Given the description of an element on the screen output the (x, y) to click on. 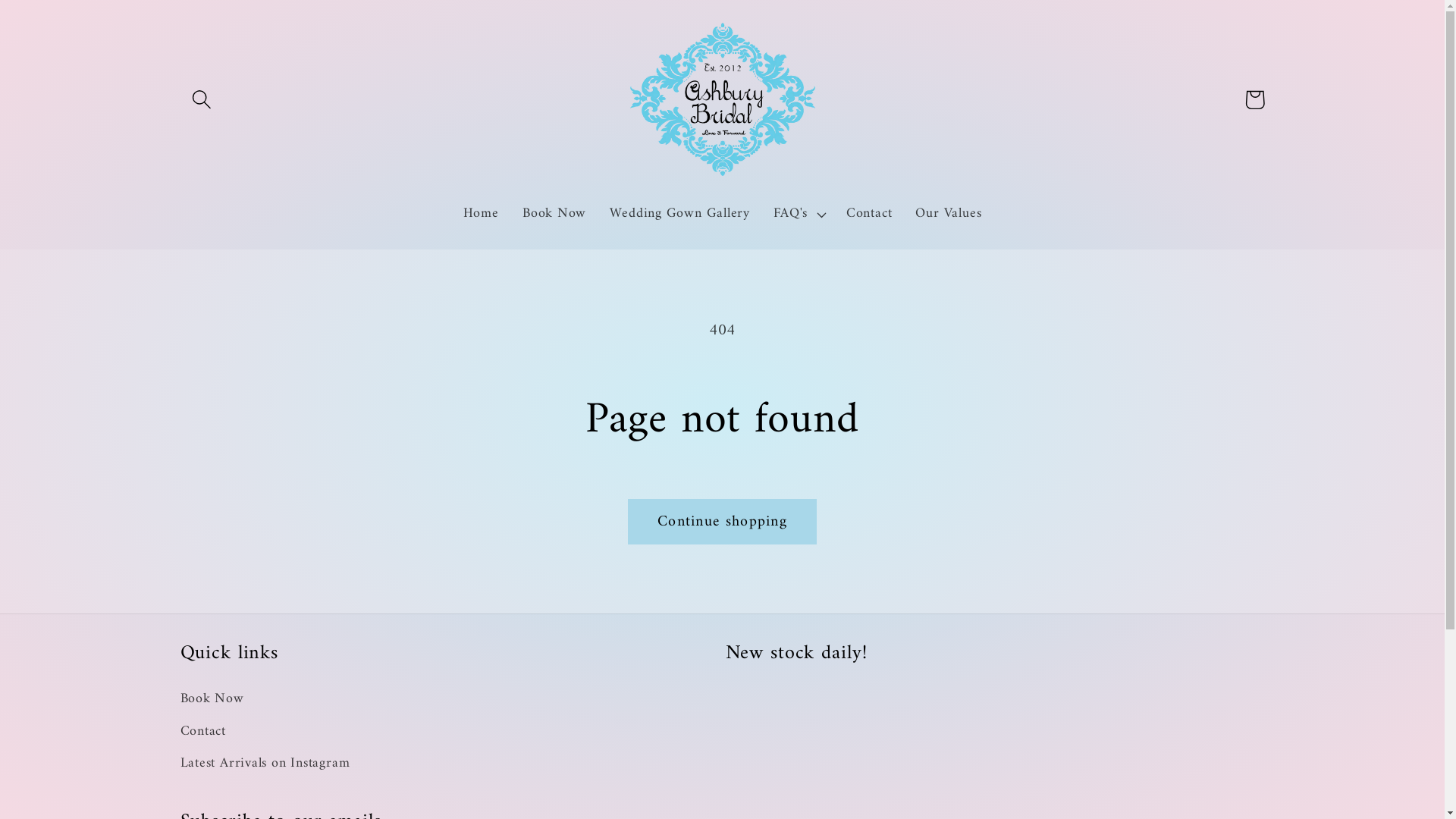
Book Now Element type: text (212, 701)
Book Now Element type: text (553, 214)
Contact Element type: text (202, 731)
Our Values Element type: text (948, 214)
Continue shopping Element type: text (721, 521)
Contact Element type: text (868, 214)
Cart Element type: text (1254, 99)
Wedding Gown Gallery Element type: text (680, 214)
Home Element type: text (480, 214)
Latest Arrivals on Instagram Element type: text (265, 764)
